Given the description of an element on the screen output the (x, y) to click on. 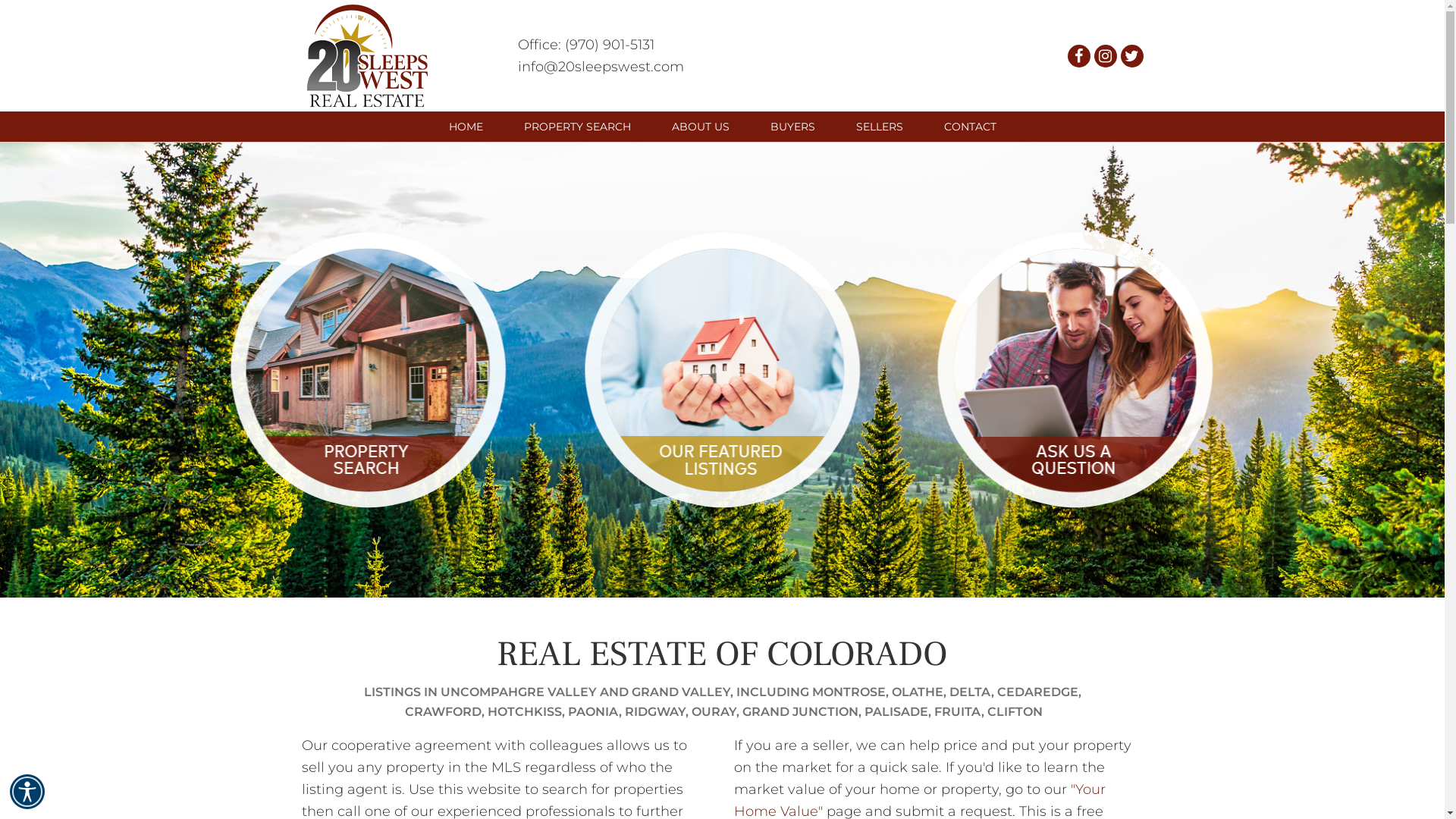
CONTACT Element type: text (969, 126)
BUYERS Element type: text (791, 126)
HOME Element type: text (464, 126)
ABOUT US Element type: text (699, 126)
SELLERS Element type: text (879, 126)
info@20sleepswest.com Element type: text (600, 65)
Office: (970) 901-5131 Element type: text (585, 44)
PROPERTY SEARCH Element type: text (577, 126)
